Given the description of an element on the screen output the (x, y) to click on. 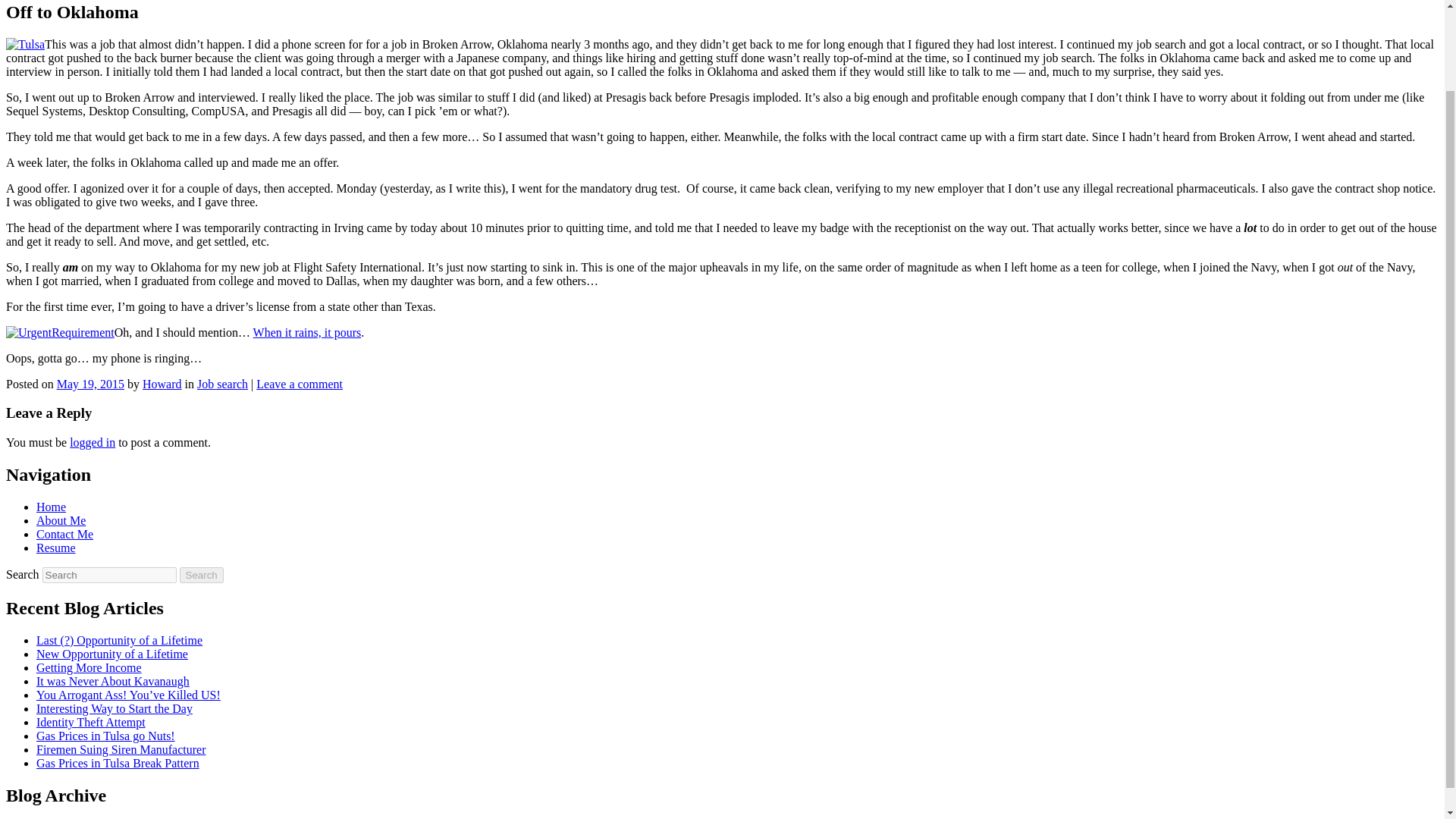
View all posts by Howard (162, 383)
logged in (92, 441)
Search (201, 575)
About Me (60, 520)
Gas Prices in Tulsa go Nuts! (105, 735)
8:32 pm (89, 383)
It was Never About Kavanaugh (112, 680)
Resume (55, 547)
Home (50, 506)
Howard (162, 383)
